Given the description of an element on the screen output the (x, y) to click on. 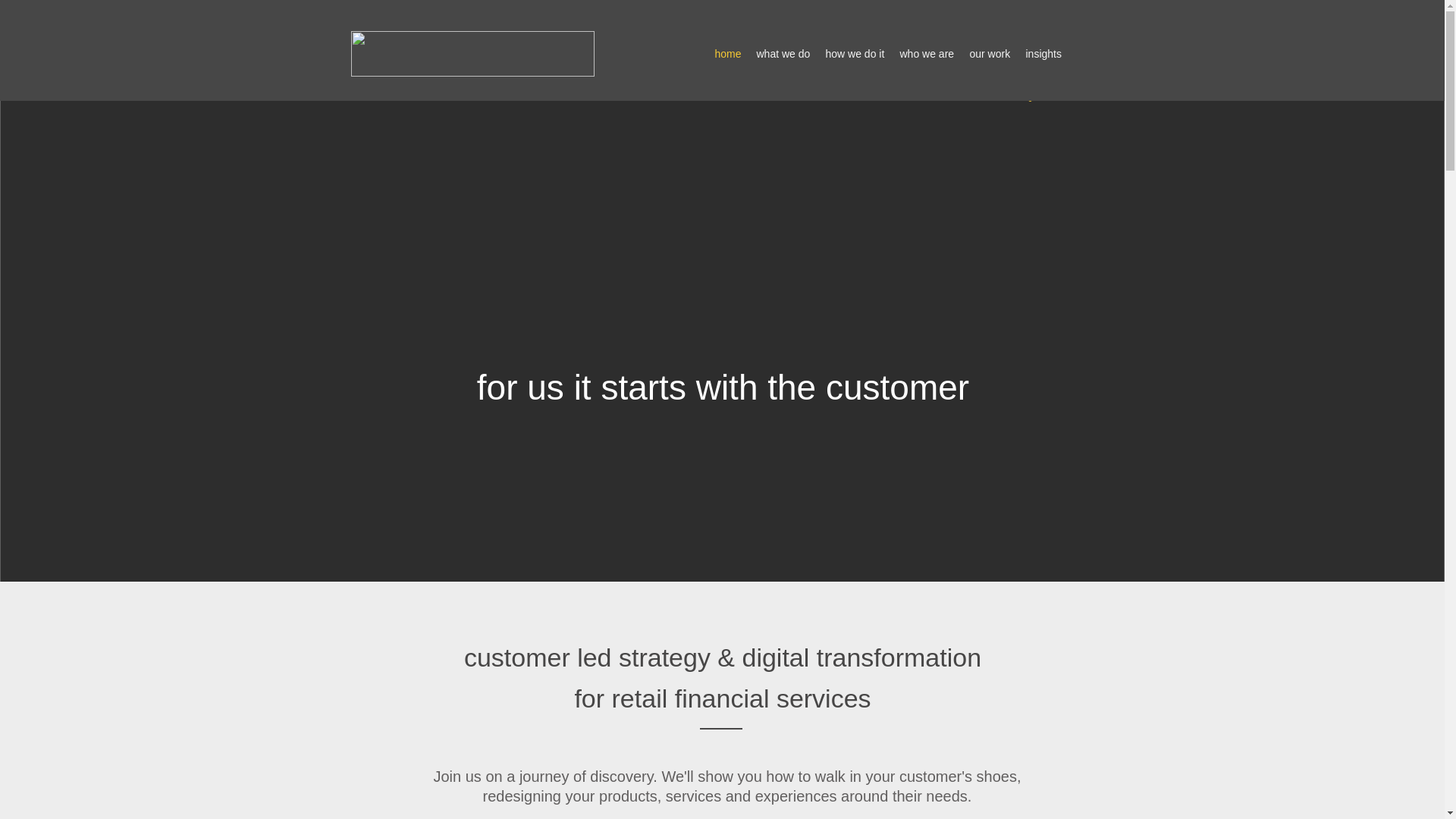
who we are (925, 53)
home (727, 53)
what we do (783, 53)
how we do it (853, 53)
insights (1042, 53)
our work (988, 53)
